Given the description of an element on the screen output the (x, y) to click on. 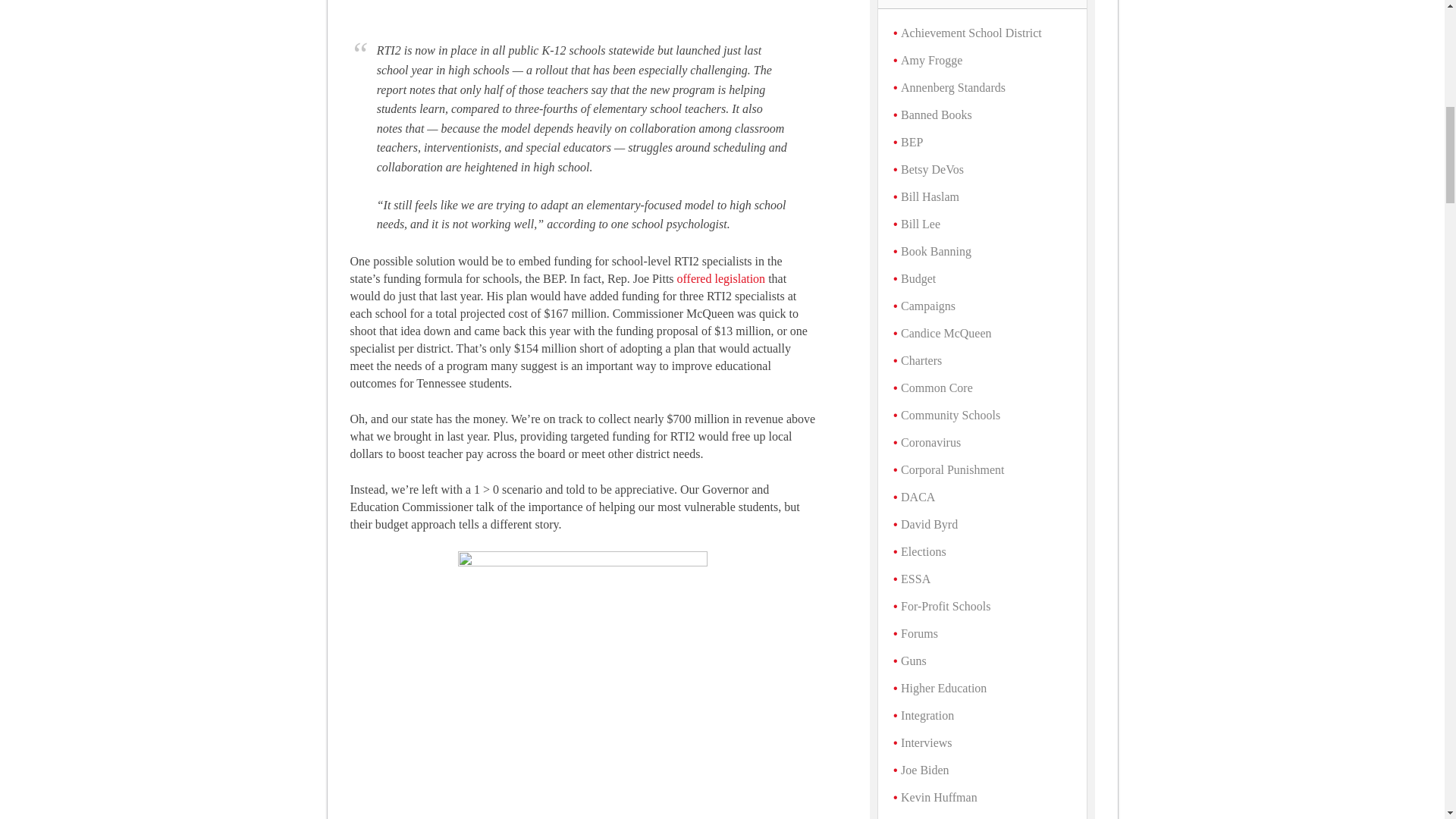
Annenberg Standards (953, 87)
Achievement School District (971, 32)
Amy Frogge (931, 60)
offered legislation (721, 278)
BEP (912, 141)
Banned Books (936, 114)
